Given the description of an element on the screen output the (x, y) to click on. 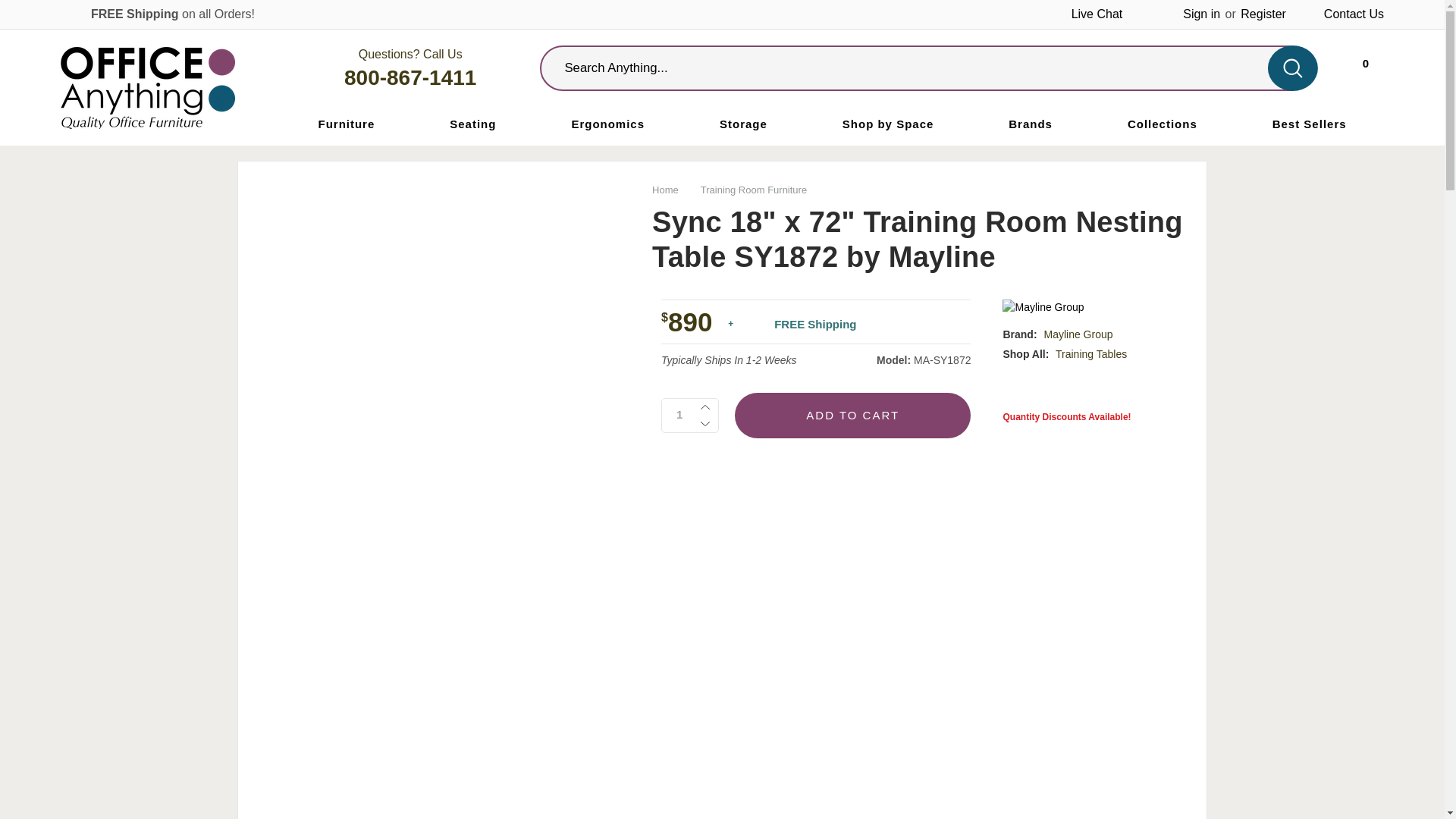
Contact Us (1353, 14)
Add to Cart (853, 415)
Office Anything (147, 86)
Register (1262, 14)
Sign in (1363, 65)
800-867-1411 (1201, 14)
Furniture (409, 77)
1 (346, 123)
Live Chat (679, 414)
